Given the description of an element on the screen output the (x, y) to click on. 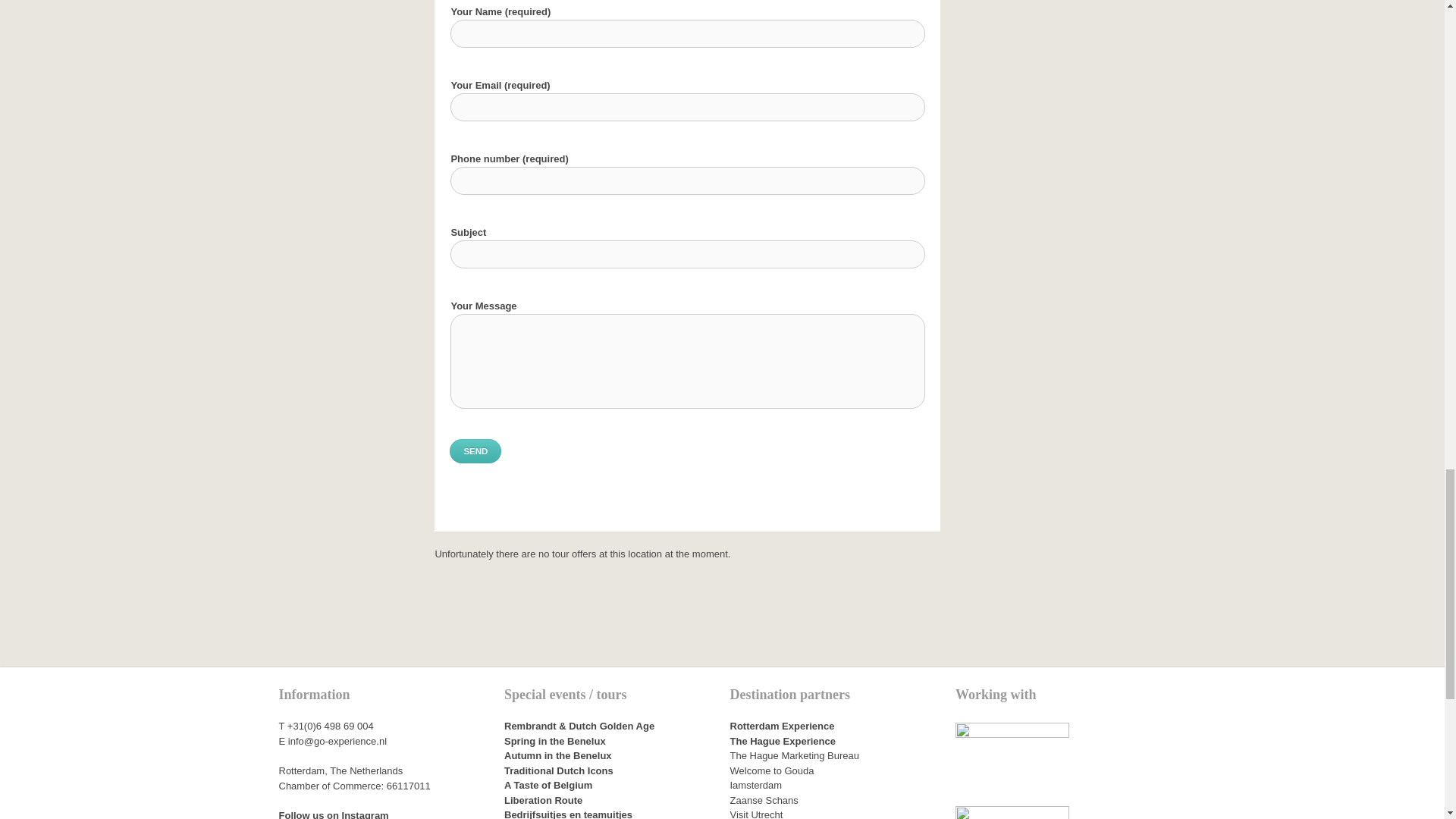
Send (474, 450)
Follow us on Instagram (333, 814)
Send (474, 450)
